Given the description of an element on the screen output the (x, y) to click on. 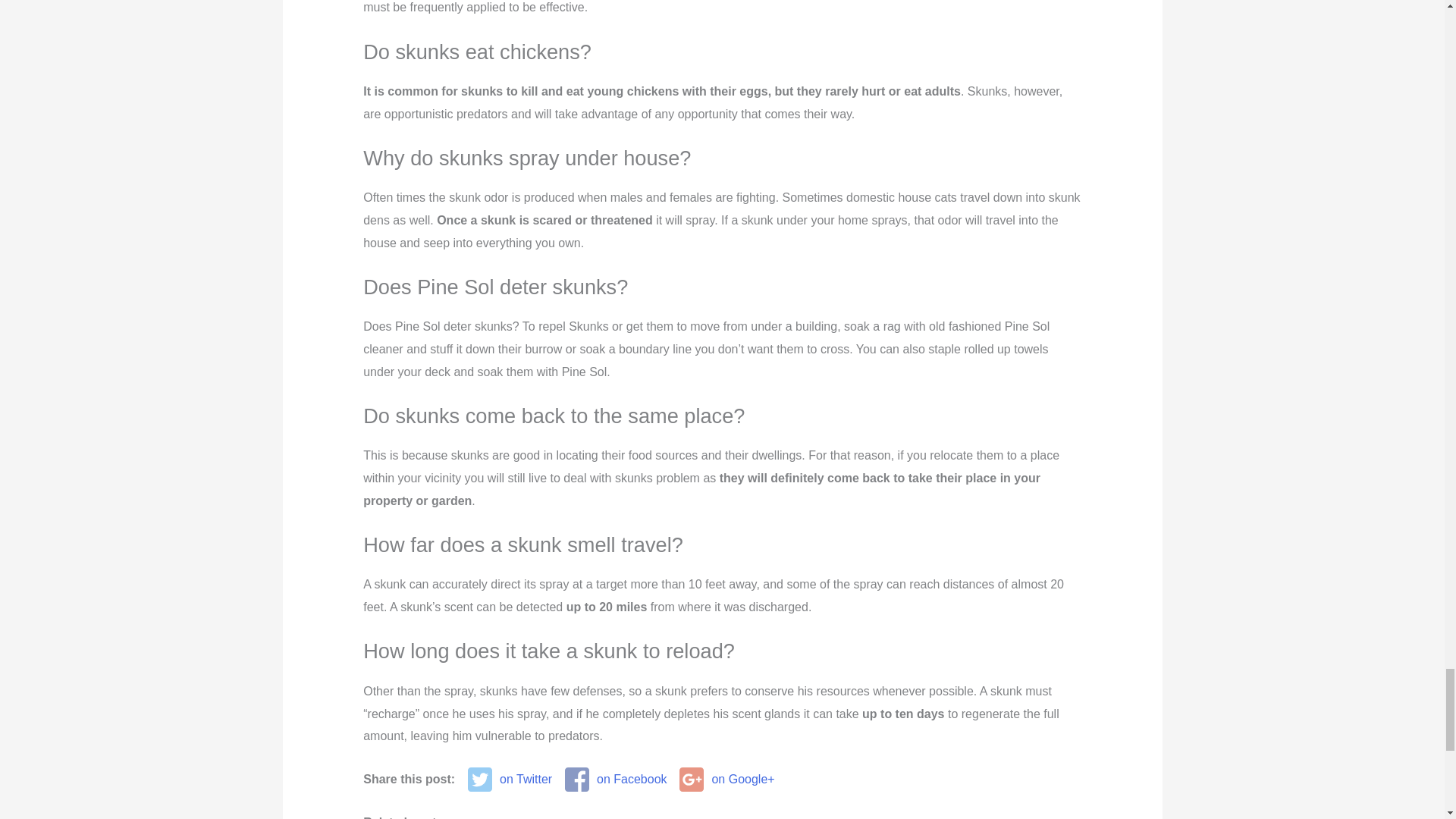
on Facebook (615, 779)
on Twitter (510, 779)
